Given the description of an element on the screen output the (x, y) to click on. 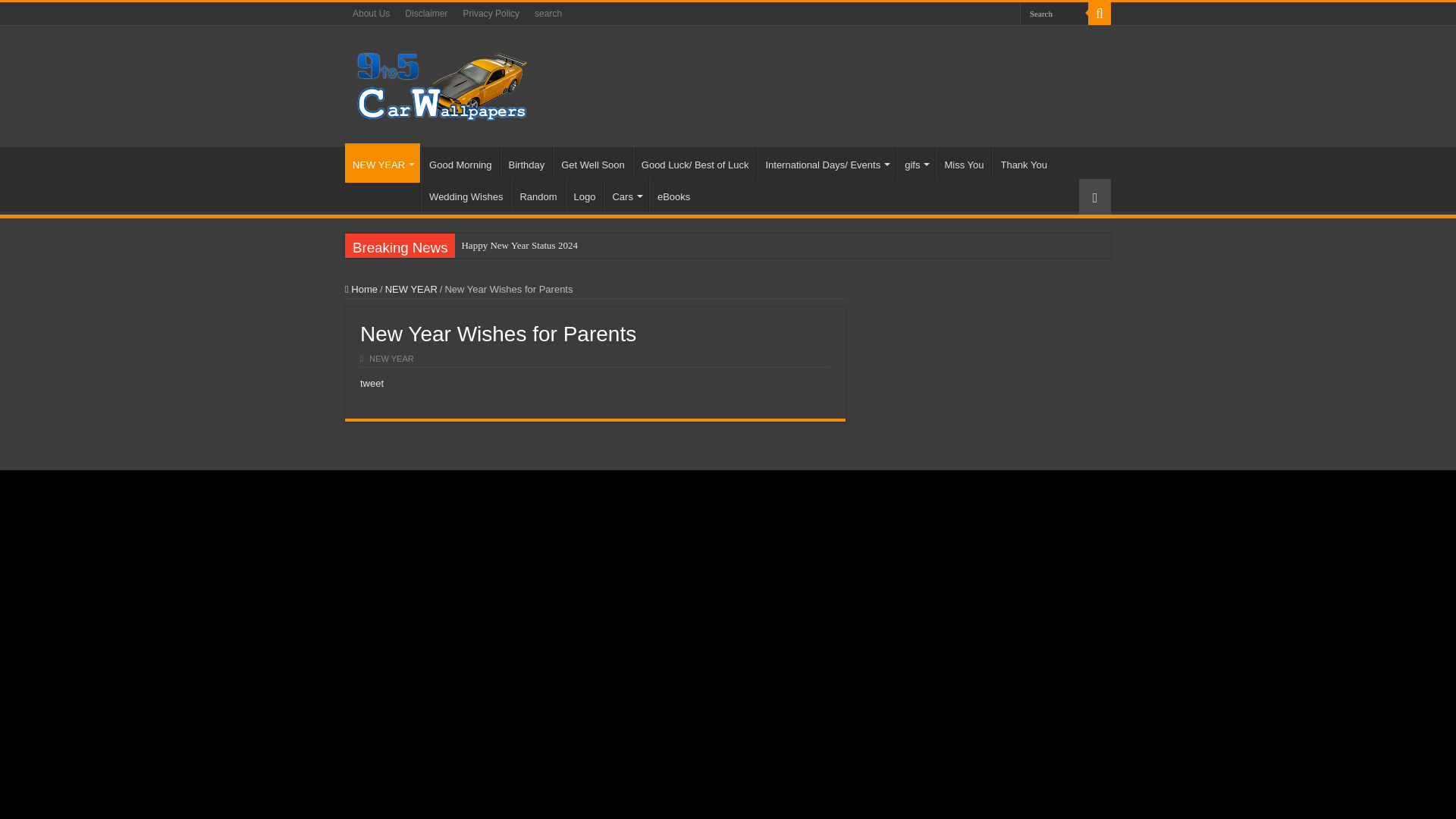
Get Well Soon (592, 163)
Search (1053, 13)
Search (1053, 13)
NEW YEAR (382, 162)
Search (1098, 13)
Random (537, 194)
Birthday (526, 163)
Privacy Policy (490, 13)
About Us (371, 13)
Cars (625, 194)
Miss You (963, 163)
Disclaimer (425, 13)
Wedding Wishes (465, 194)
search (548, 13)
Good Morning (459, 163)
